Given the description of an element on the screen output the (x, y) to click on. 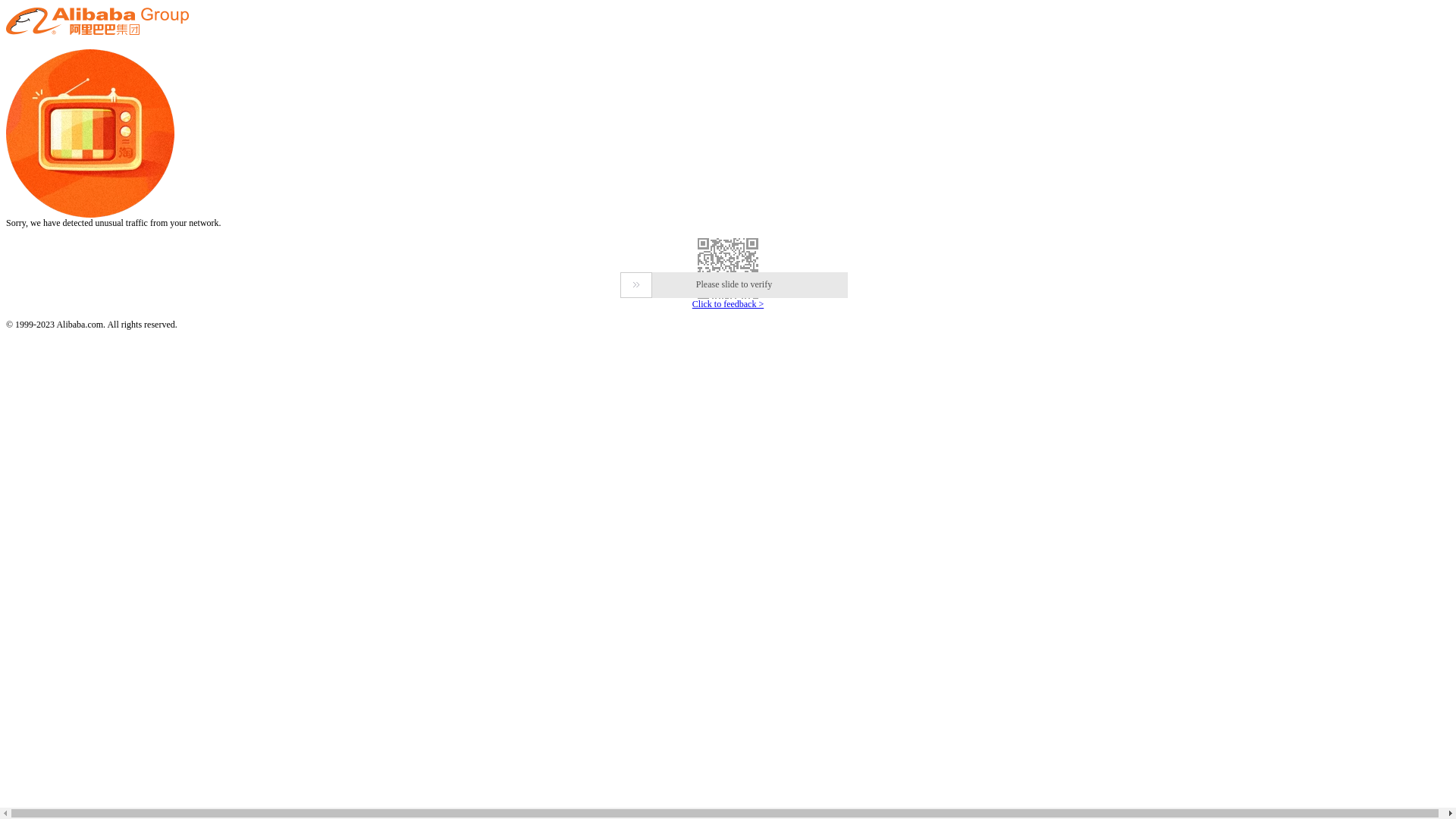
Ja3sIDkBp9197iMoVFZllA|ZWIU7g|gqtLDQ_0 Element type: hover (727, 268)
Click to feedback > Element type: text (727, 303)
